Given the description of an element on the screen output the (x, y) to click on. 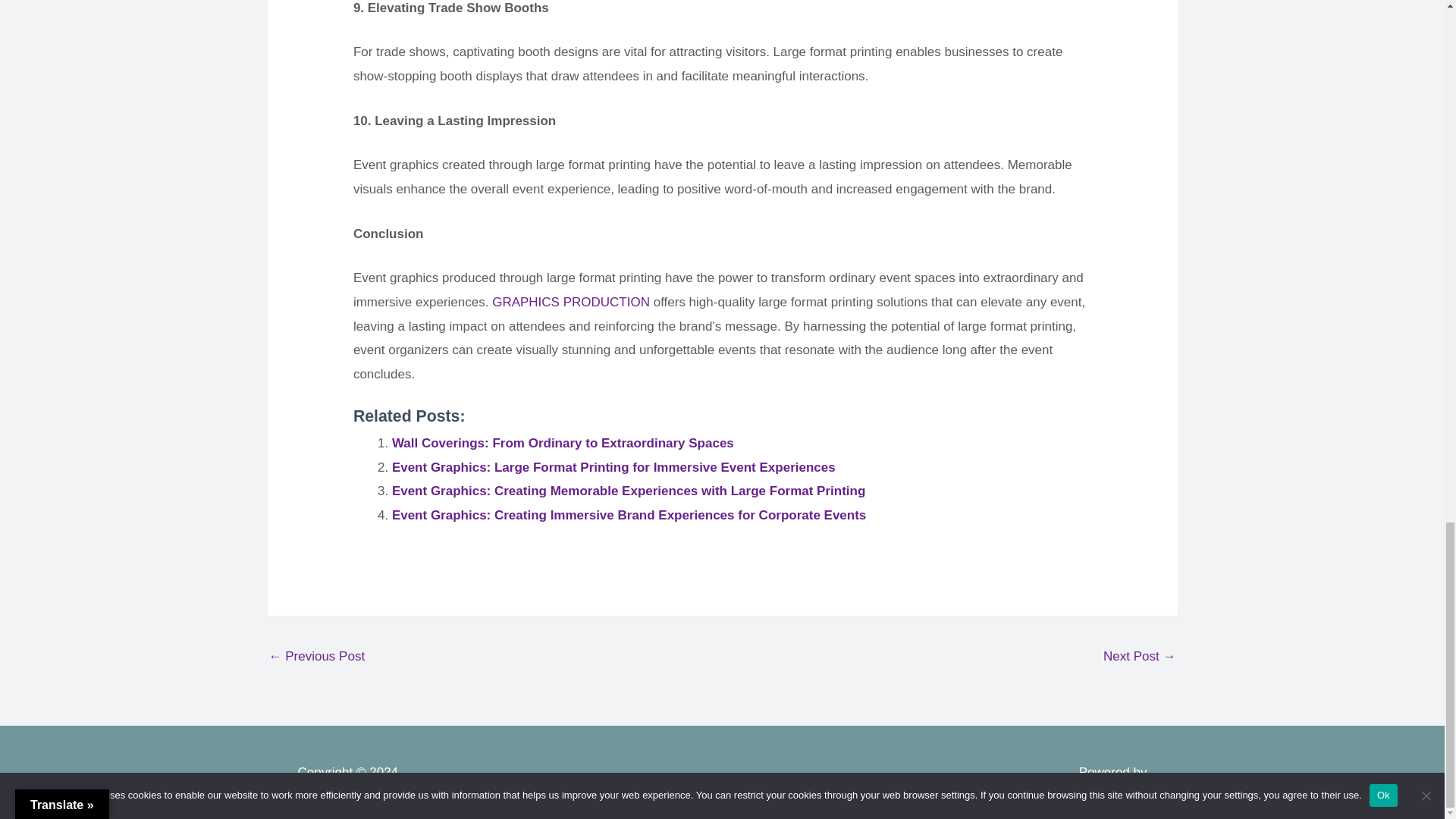
GRAPHICS PRODUCTION (570, 301)
Wall Coverings: From Ordinary to Extraordinary Spaces (562, 442)
Wall Coverings: From Ordinary to Extraordinary Spaces (562, 442)
